Given the description of an element on the screen output the (x, y) to click on. 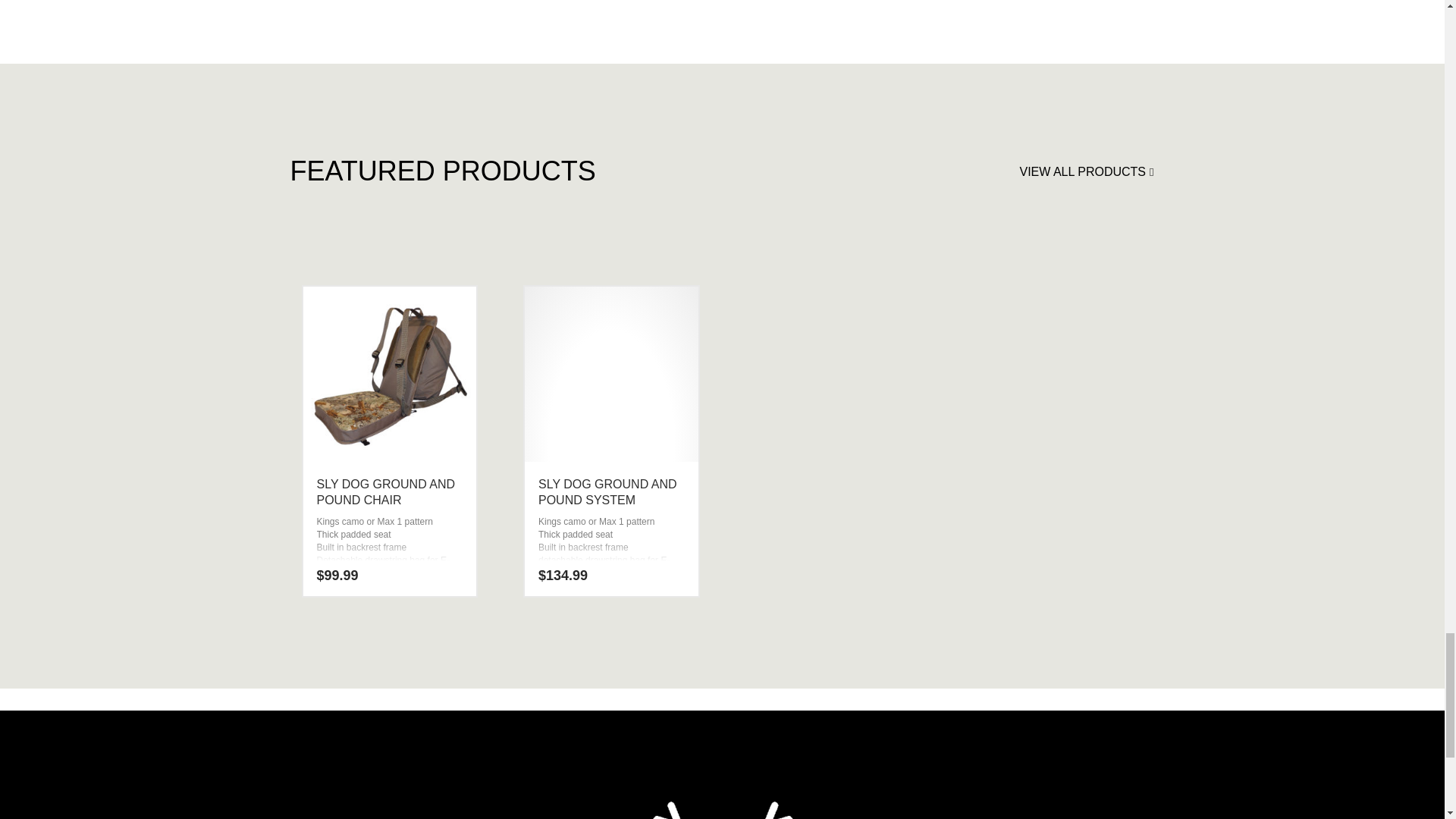
VIEW ALL PRODUCTS (1085, 168)
FEATURED PRODUCTS (722, 248)
